Given the description of an element on the screen output the (x, y) to click on. 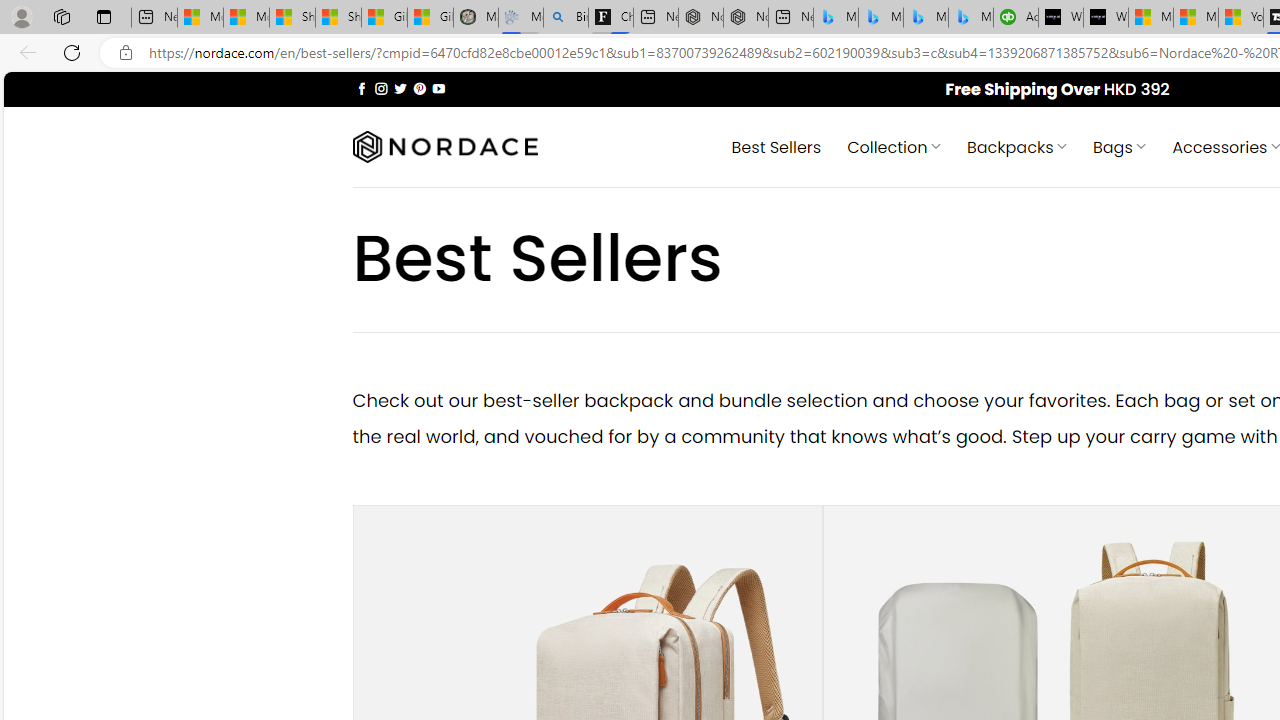
Nordace (444, 147)
Follow on Twitter (400, 88)
Nordace - #1 Japanese Best-Seller - Siena Smart Backpack (745, 17)
Chloe Sorvino (610, 17)
Bing Real Estate - Home sales and rental listings (565, 17)
Manatee Mortality Statistics | FWC (475, 17)
Microsoft Bing Travel - Stays in Bangkok, Bangkok, Thailand (880, 17)
Nordace (444, 147)
